Given the description of an element on the screen output the (x, y) to click on. 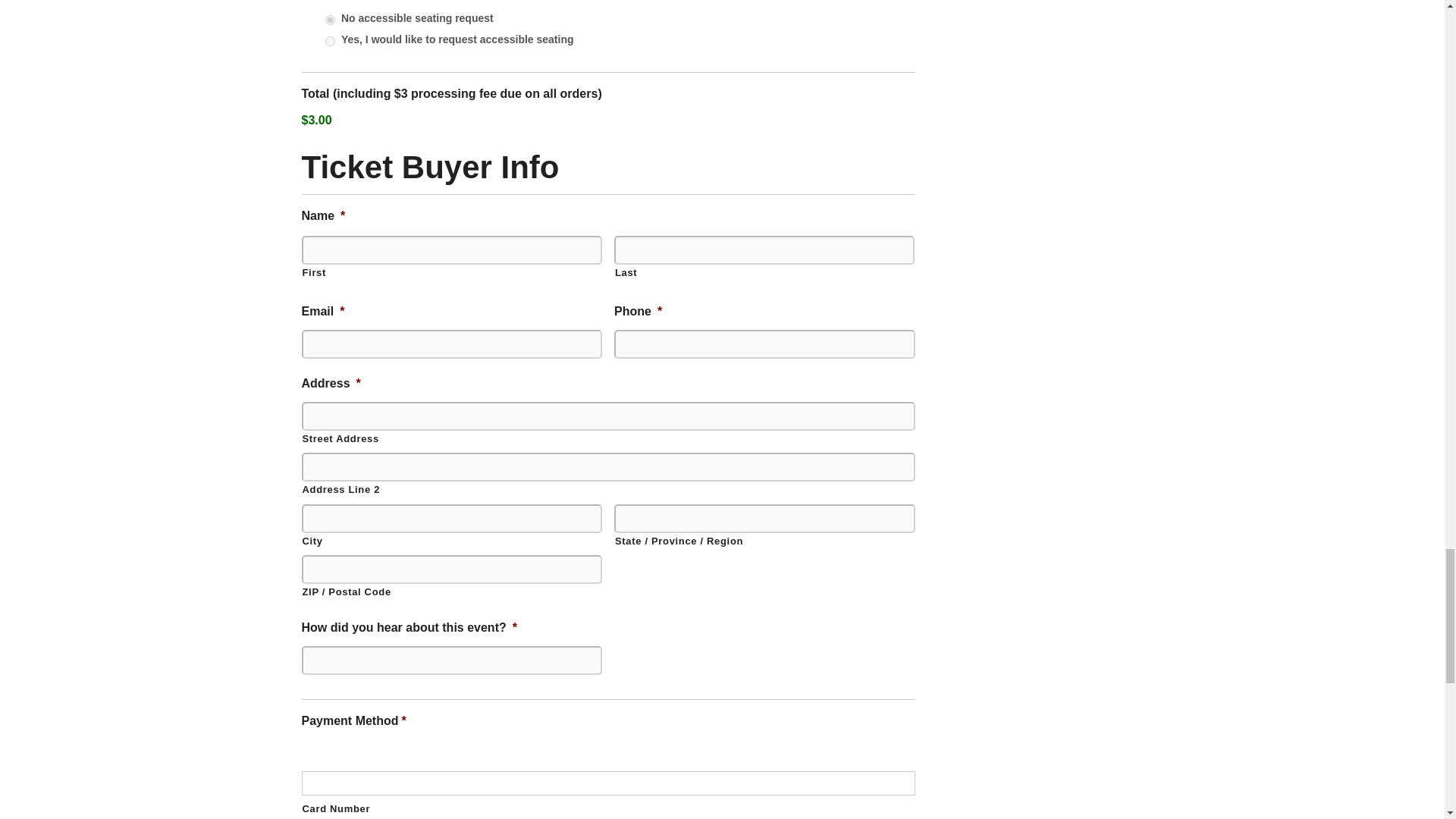
Yes, I would like to request accessible seating (329, 40)
No accessible seating request (329, 20)
